Given the description of an element on the screen output the (x, y) to click on. 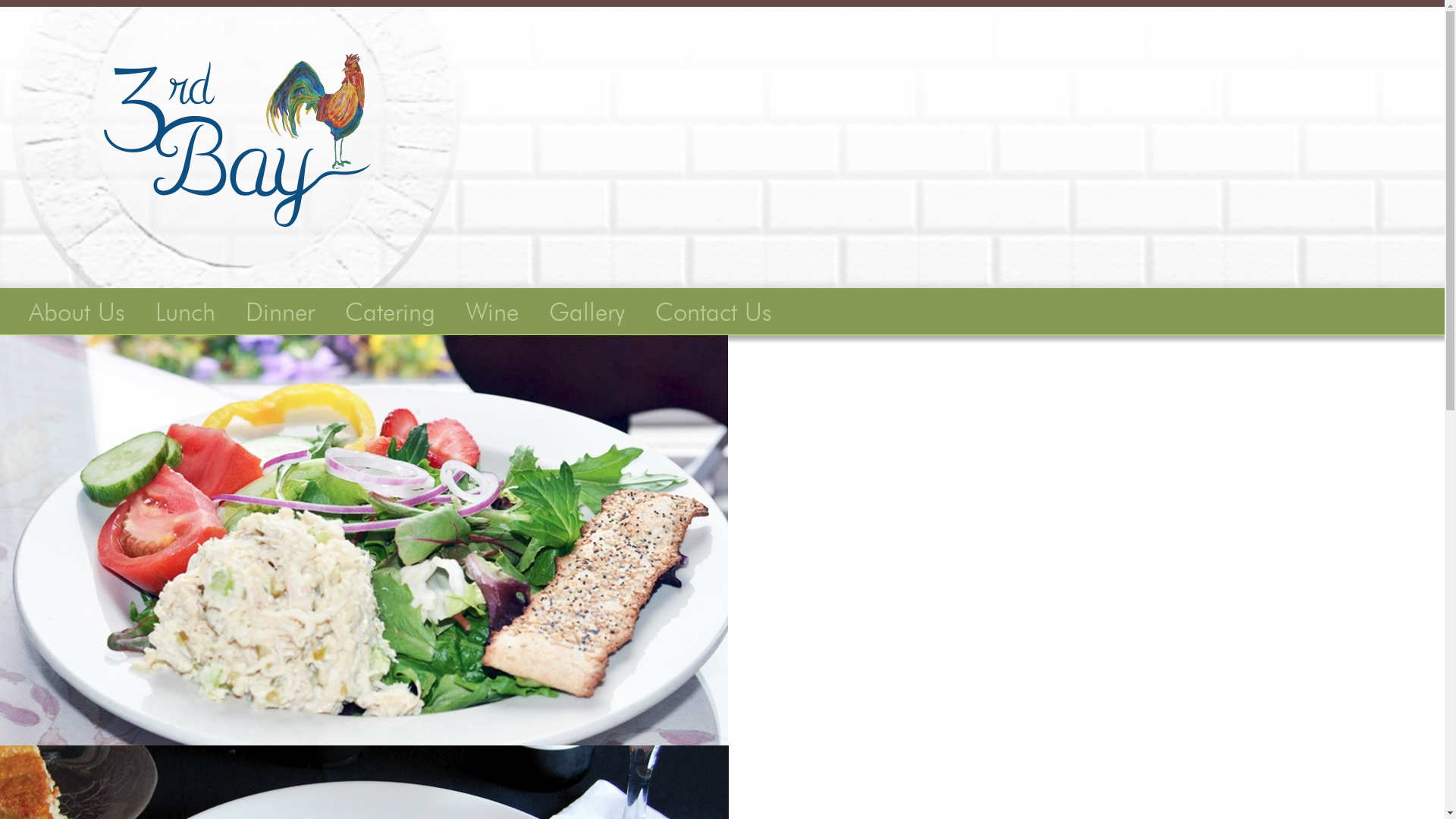
About Us Element type: text (76, 310)
Catering Element type: text (389, 310)
Lunch Element type: text (185, 310)
Contact Us Element type: text (713, 310)
Dinner Element type: text (279, 310)
Wine Element type: text (491, 310)
Gallery Element type: text (586, 310)
